Given the description of an element on the screen output the (x, y) to click on. 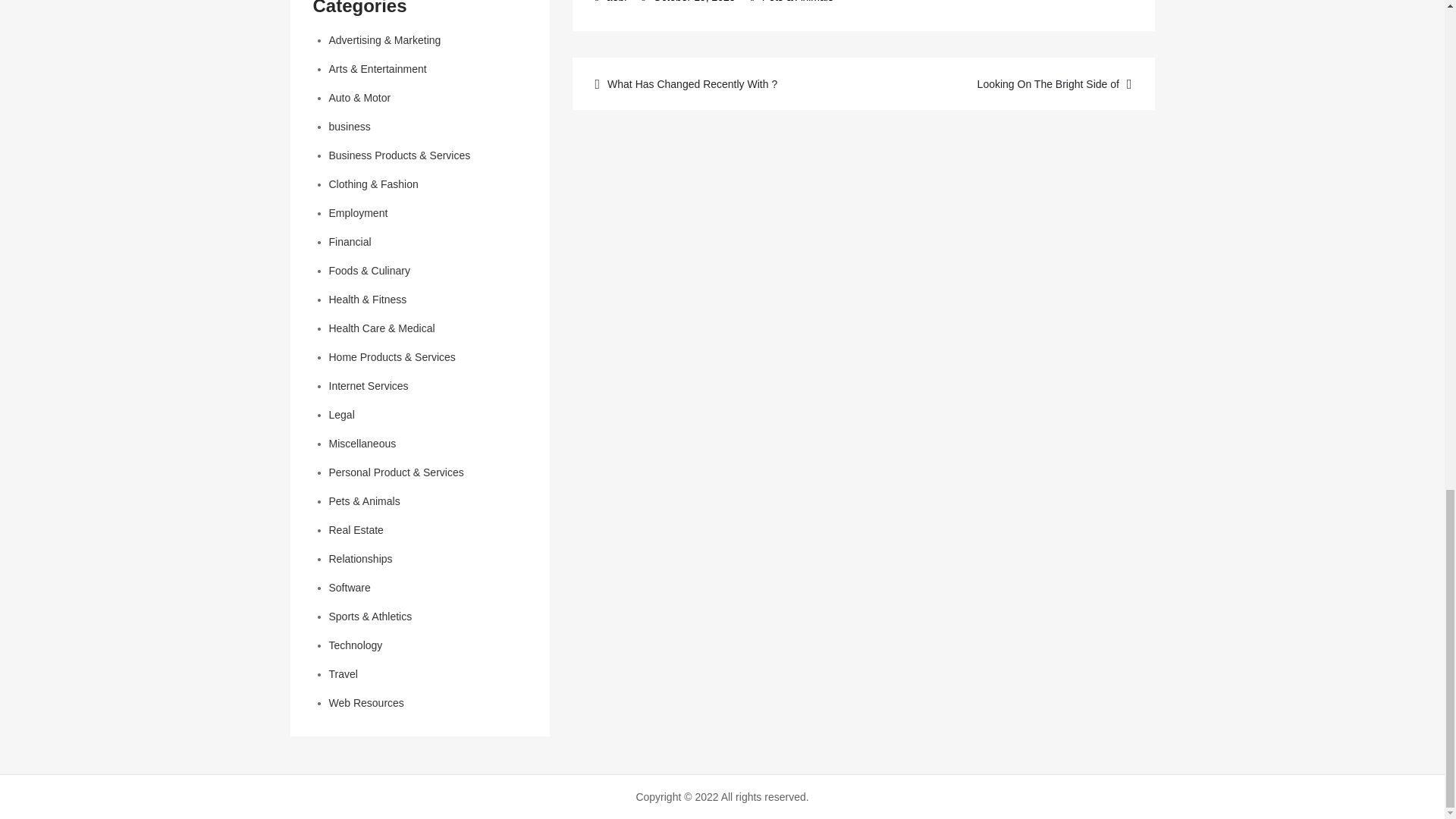
Financial (350, 241)
Employment (358, 213)
Looking On The Bright Side of (1007, 83)
business (350, 126)
October 19, 2023 (688, 1)
aebi (611, 1)
What Has Changed Recently With ? (719, 83)
